Given the description of an element on the screen output the (x, y) to click on. 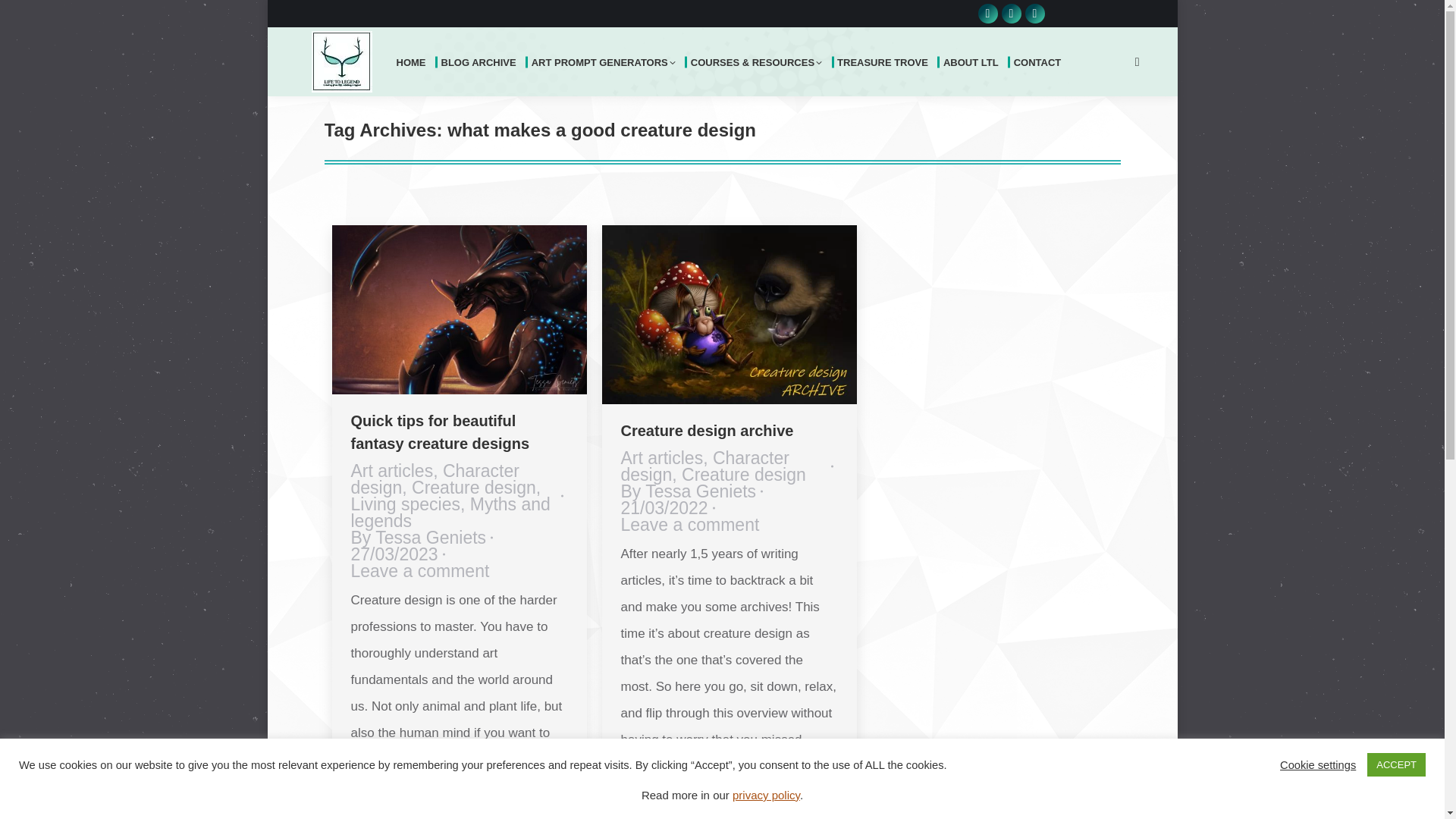
Octherium-Sinoii-web-final (458, 309)
YouTube page opens in new window (987, 13)
ABOUT LTL (973, 60)
ART PROMPT GENERATORS (605, 60)
Go! (33, 16)
Facebook page opens in new window (1010, 13)
Quick tips for beautiful fantasy creature designs (439, 432)
HOME (413, 60)
Rss page opens in new window (1035, 13)
View all posts by Tessa Geniets (421, 537)
CONTACT (1040, 60)
BLOG ARCHIVE (480, 60)
TREASURE TROVE (884, 60)
